Given the description of an element on the screen output the (x, y) to click on. 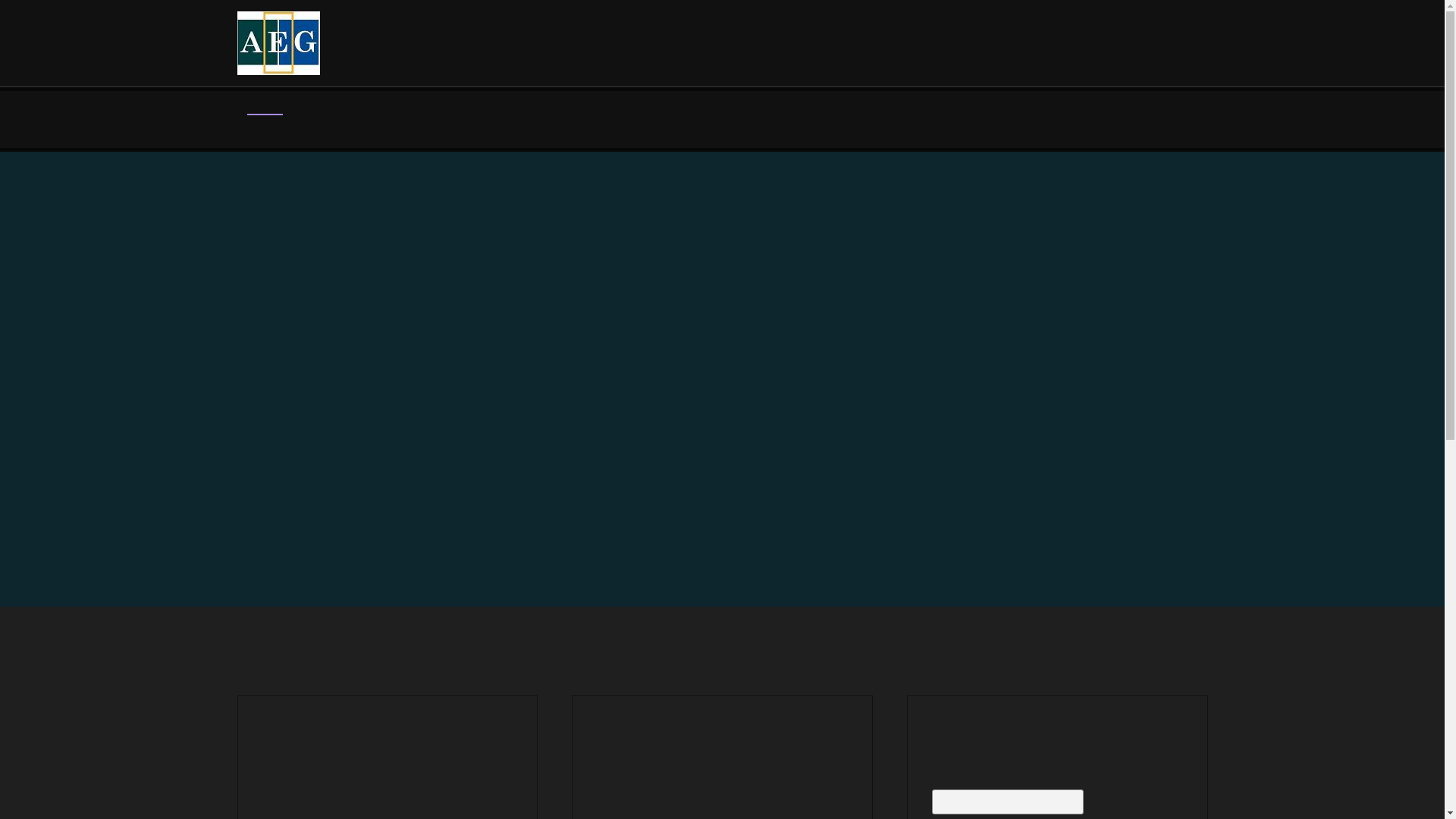
HOME Element type: text (263, 126)
Contact Us Element type: text (1059, 720)
About Us Element type: text (388, 720)
Location Element type: text (723, 720)
Go to site home page Element type: hover (277, 43)
